Given the description of an element on the screen output the (x, y) to click on. 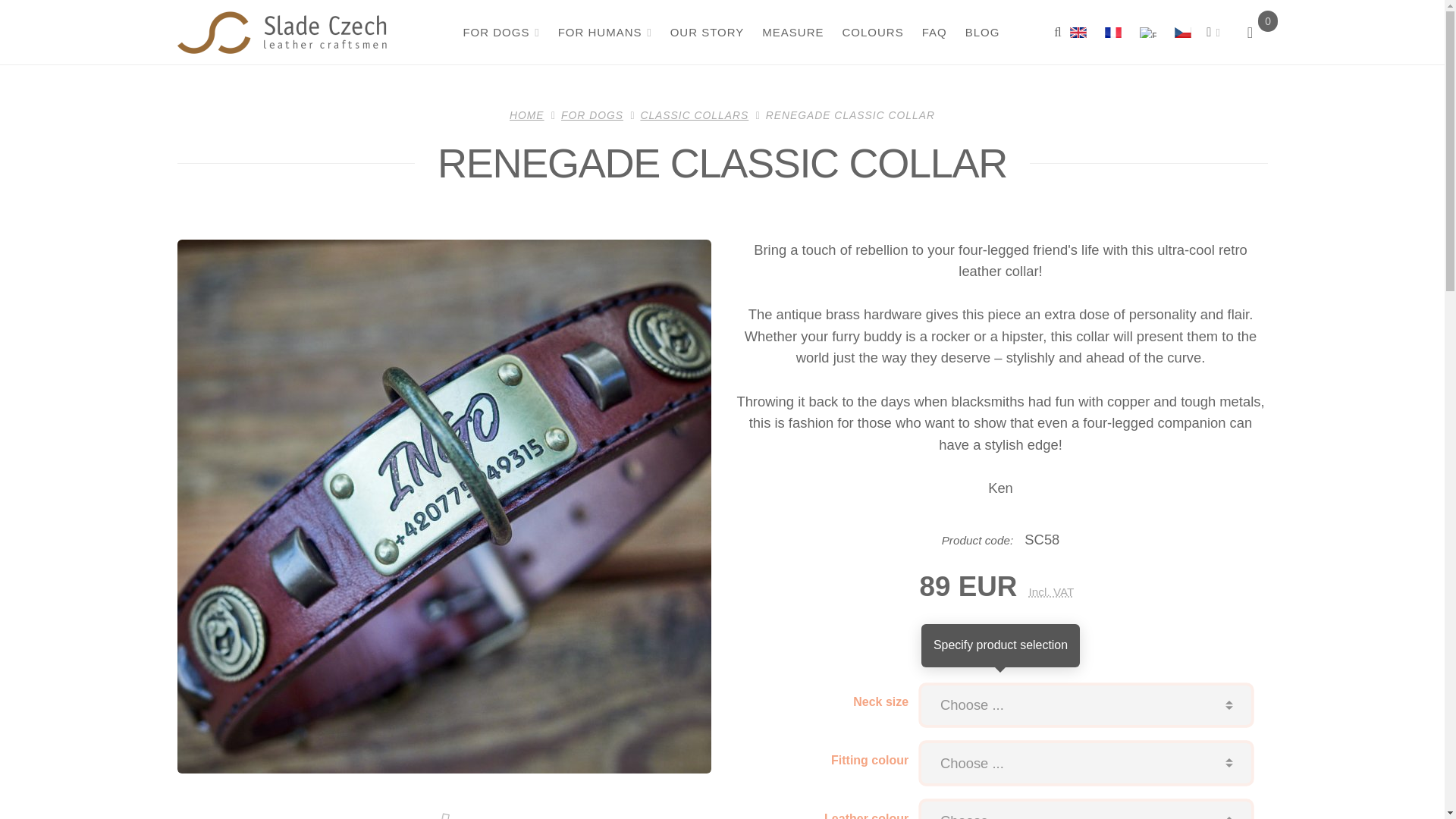
English (1082, 32)
FAQ (933, 32)
BLOG (981, 32)
English (1078, 32)
English (1148, 32)
OUR STORY (705, 32)
Search (1056, 31)
MEASURE (791, 32)
French (1113, 32)
FOR DOGS (499, 32)
